Given the description of an element on the screen output the (x, y) to click on. 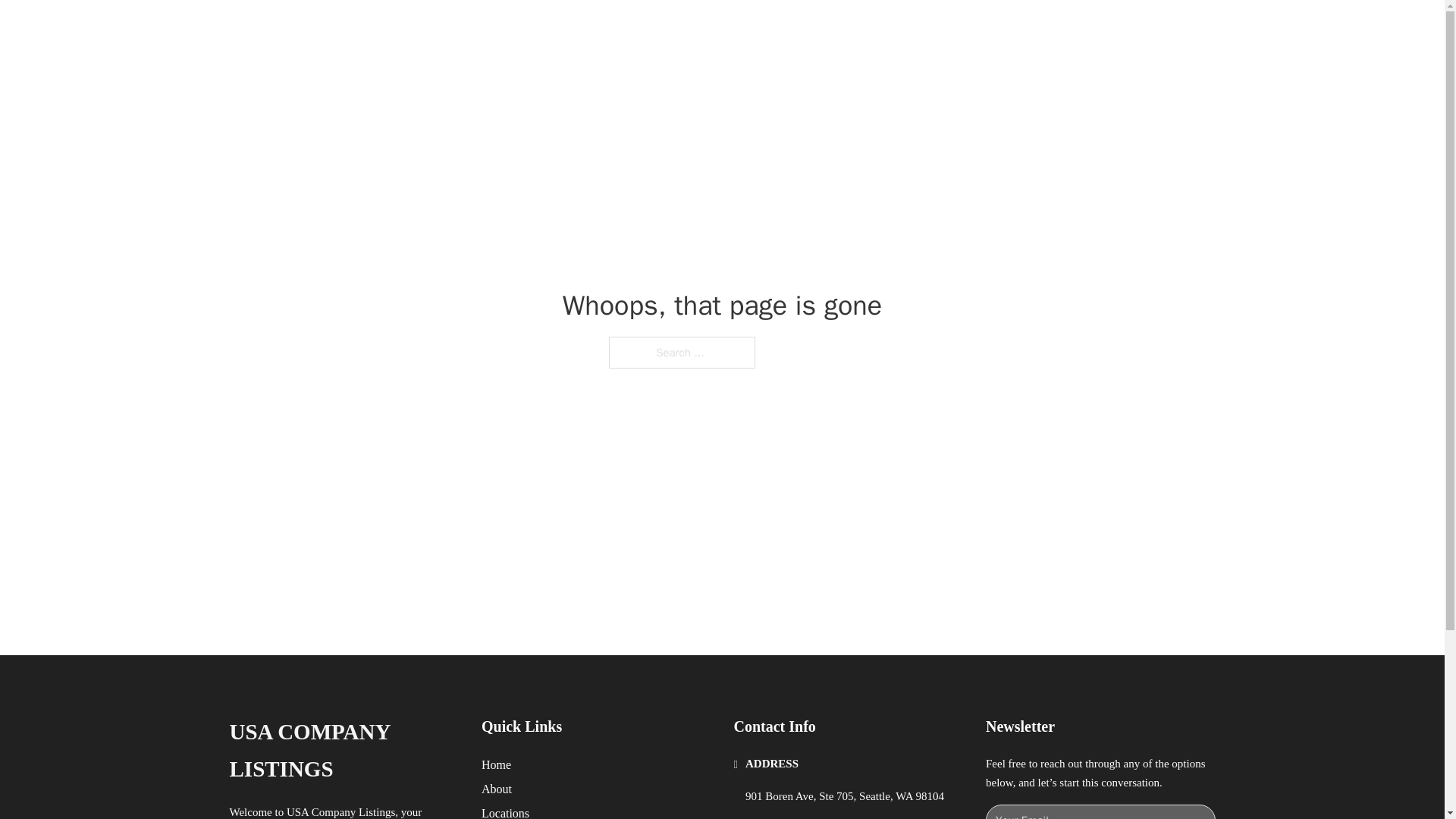
USA COMPANY LISTINGS (343, 750)
HOME (919, 29)
USA COMPANY LISTINGS (431, 28)
LOCATIONS (990, 29)
Home (496, 764)
About (496, 788)
Locations (505, 811)
